Given the description of an element on the screen output the (x, y) to click on. 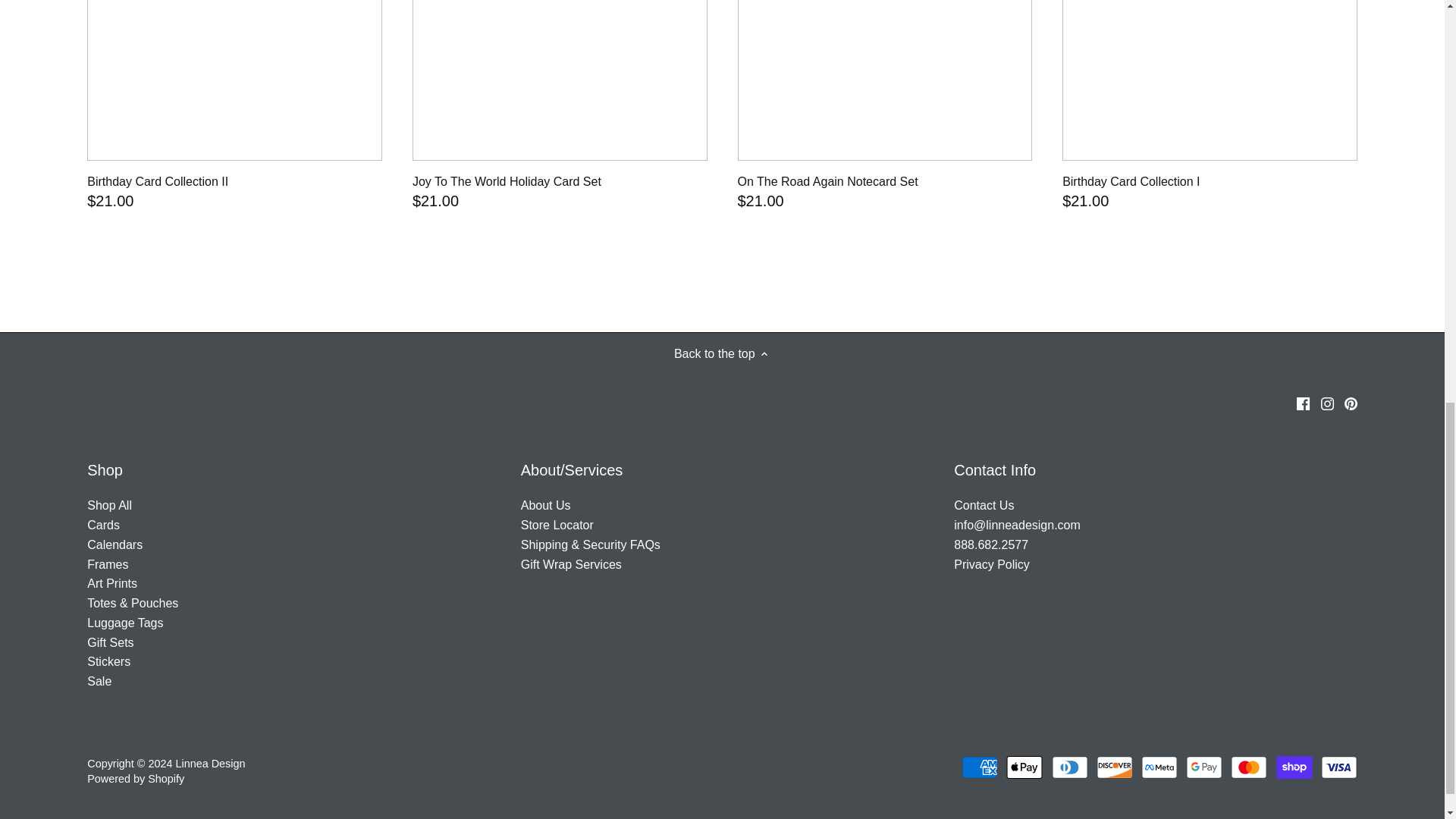
Meta Pay (1159, 766)
Apple Pay (1024, 766)
Google Pay (1204, 766)
Mastercard (1248, 766)
Instagram (1326, 403)
Pinterest (1349, 403)
Facebook (1303, 403)
Discover (1114, 766)
American Express (978, 766)
Diners Club (1069, 766)
